Given the description of an element on the screen output the (x, y) to click on. 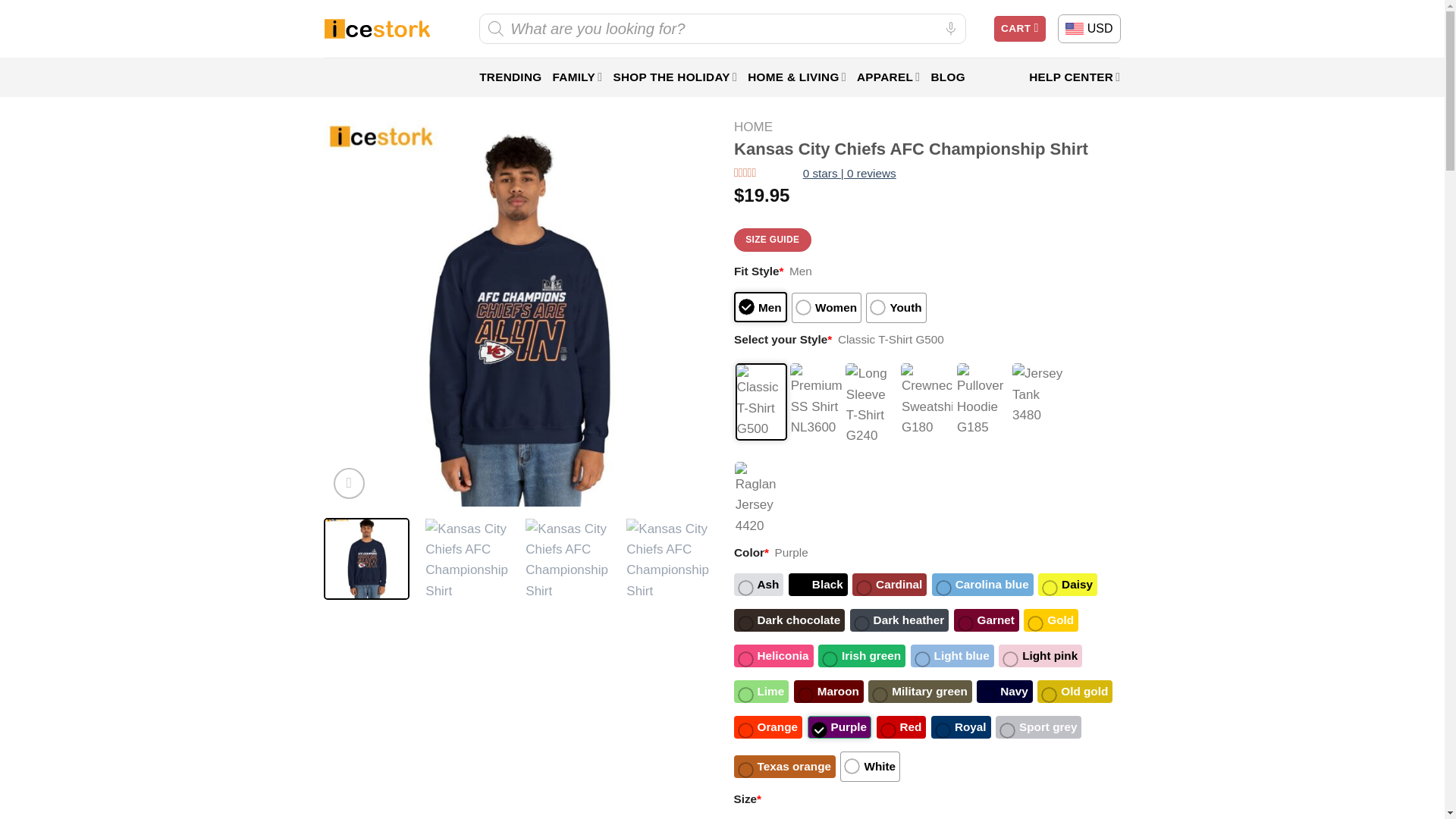
FAMILY (576, 77)
Kansas City Chiefs AFC Championship Shirt 2 (567, 560)
HELP CENTER (1074, 77)
Kansas City Chiefs AFC Championship Shirt 1 (467, 560)
APPAREL (888, 77)
TRENDING (510, 77)
CART (1019, 28)
Cart (1019, 28)
Icestork - Best Clothings With Cheap Price (376, 28)
